Given the description of an element on the screen output the (x, y) to click on. 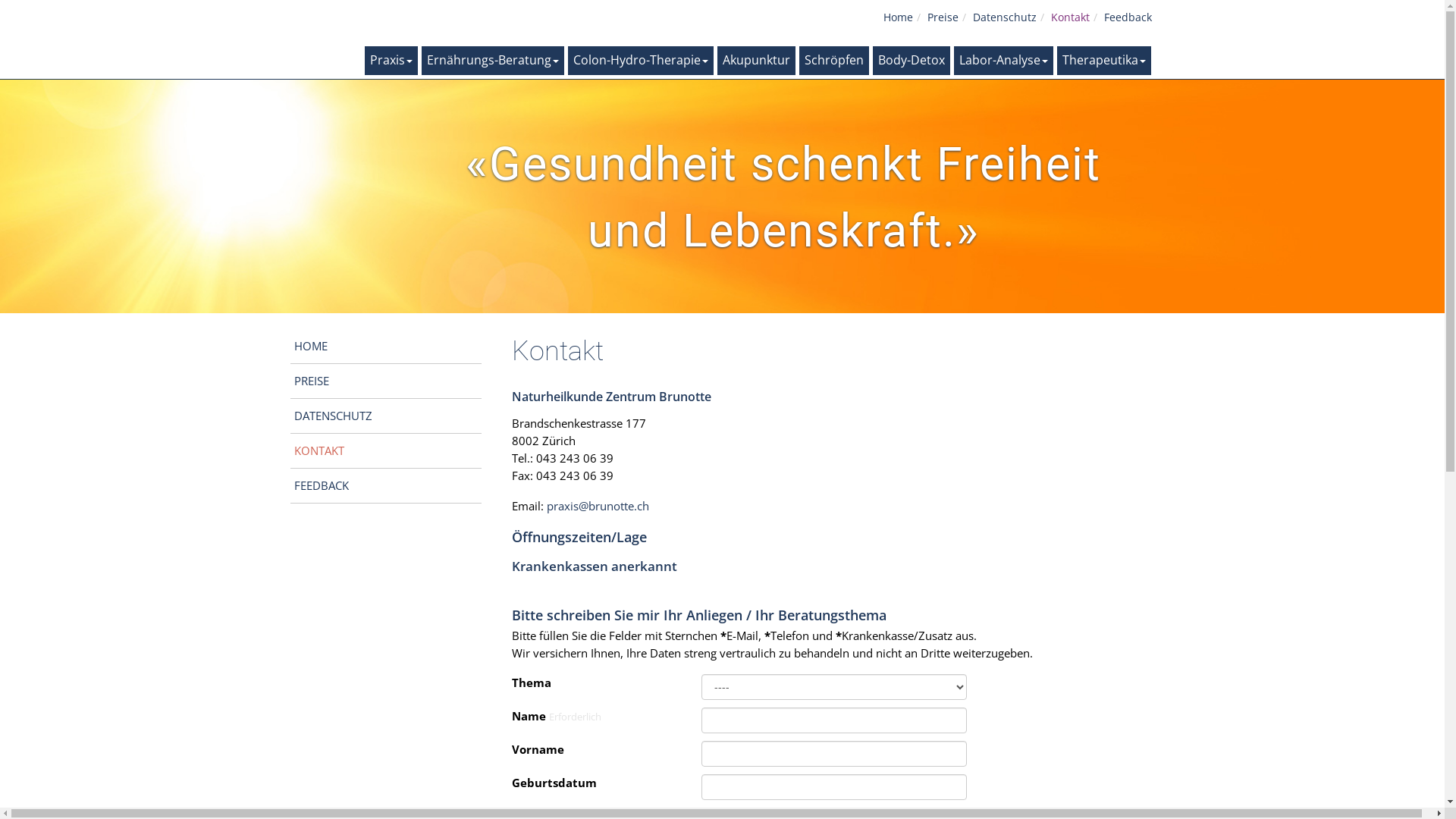
Therapeutika Element type: text (1104, 60)
DATENSCHUTZ Element type: text (386, 415)
Body-Detox Element type: text (910, 60)
FEEDBACK Element type: text (386, 485)
Akupunktur Element type: text (756, 60)
praxis@brunotte.ch Element type: text (597, 504)
Feedback Element type: text (1127, 16)
Preise Element type: text (941, 16)
Praxis Element type: text (390, 60)
Datenschutz Element type: text (1003, 16)
Home Element type: text (897, 16)
HOME Element type: text (386, 346)
Colon-Hydro-Therapie Element type: text (639, 60)
PREISE Element type: text (386, 381)
KONTAKT Element type: text (386, 450)
Labor-Analyse Element type: text (1003, 60)
